Given the description of an element on the screen output the (x, y) to click on. 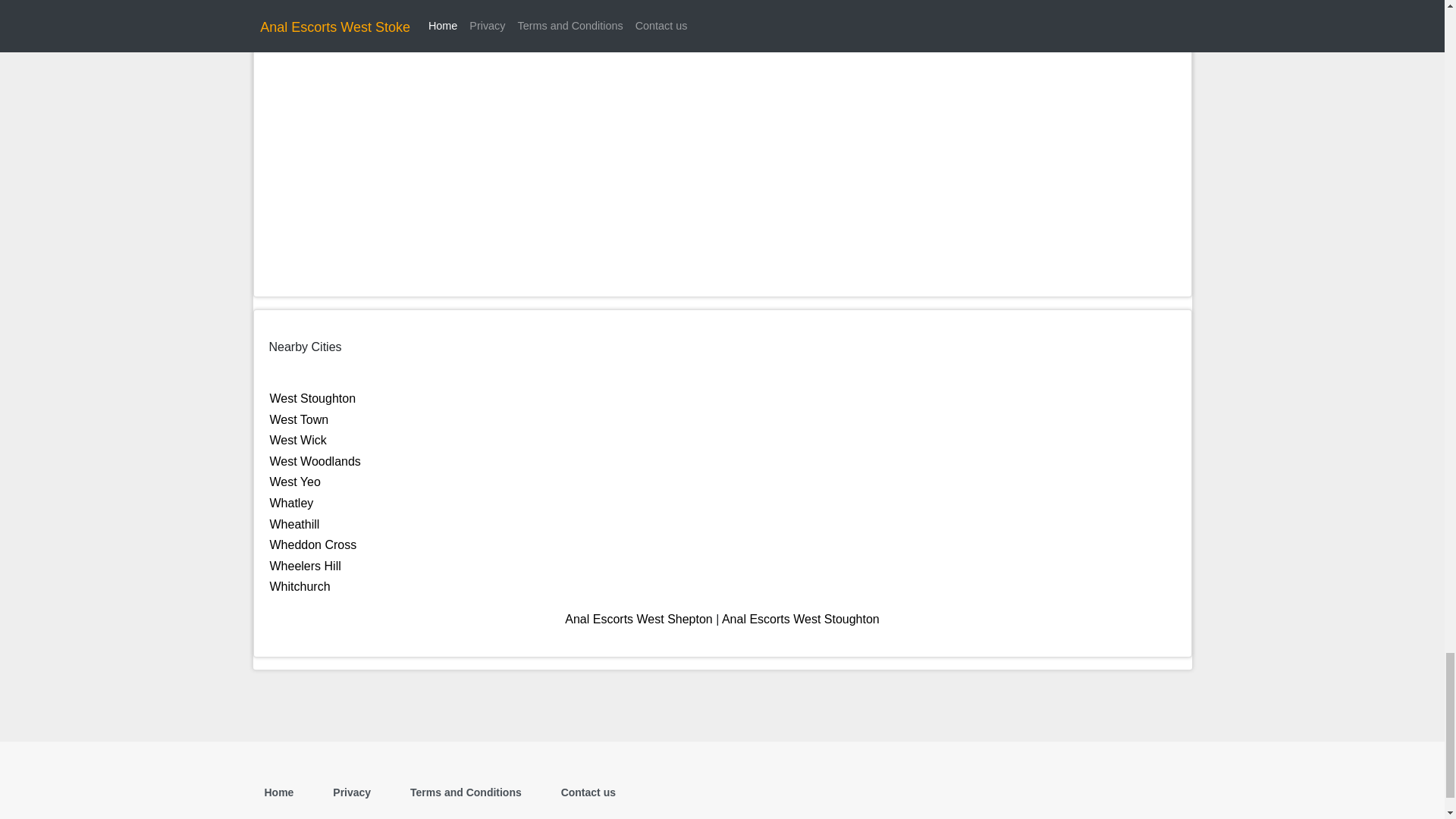
Wheelers Hill (304, 565)
West Town (299, 419)
Anal Escorts West Shepton (637, 618)
West Stoughton (312, 398)
West Yeo (294, 481)
Anal Escorts West Stoughton (800, 618)
Wheddon Cross (312, 544)
Whitchurch (299, 585)
Whatley (291, 502)
West Woodlands (315, 461)
West Wick (297, 440)
Wheathill (294, 523)
